Given the description of an element on the screen output the (x, y) to click on. 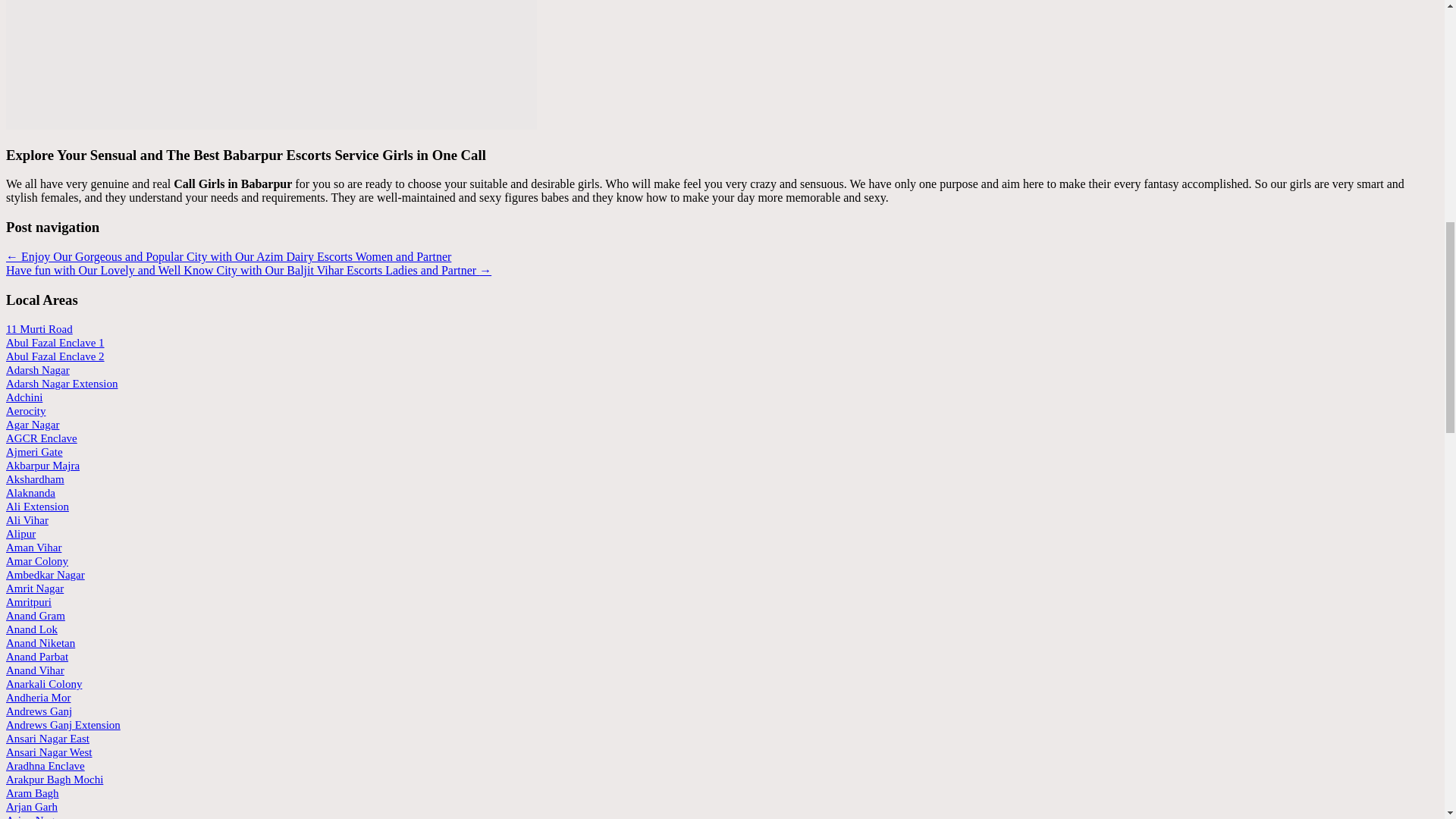
Agar Nagar (32, 424)
Alaknanda (30, 492)
Ambedkar Nagar (44, 574)
AGCR Enclave (41, 438)
Adchini (23, 397)
Abul Fazal Enclave 1 Escorts (54, 342)
Anand Niketan (40, 643)
Aerocity (25, 410)
Ali Extension (36, 506)
Anand Vihar (34, 670)
Adarsh Nagar Extension (61, 383)
Adarsh Nagar Escorts (37, 369)
Akbarpur Majra (42, 465)
Anand Gram (35, 615)
Amar Colony (36, 561)
